Given the description of an element on the screen output the (x, y) to click on. 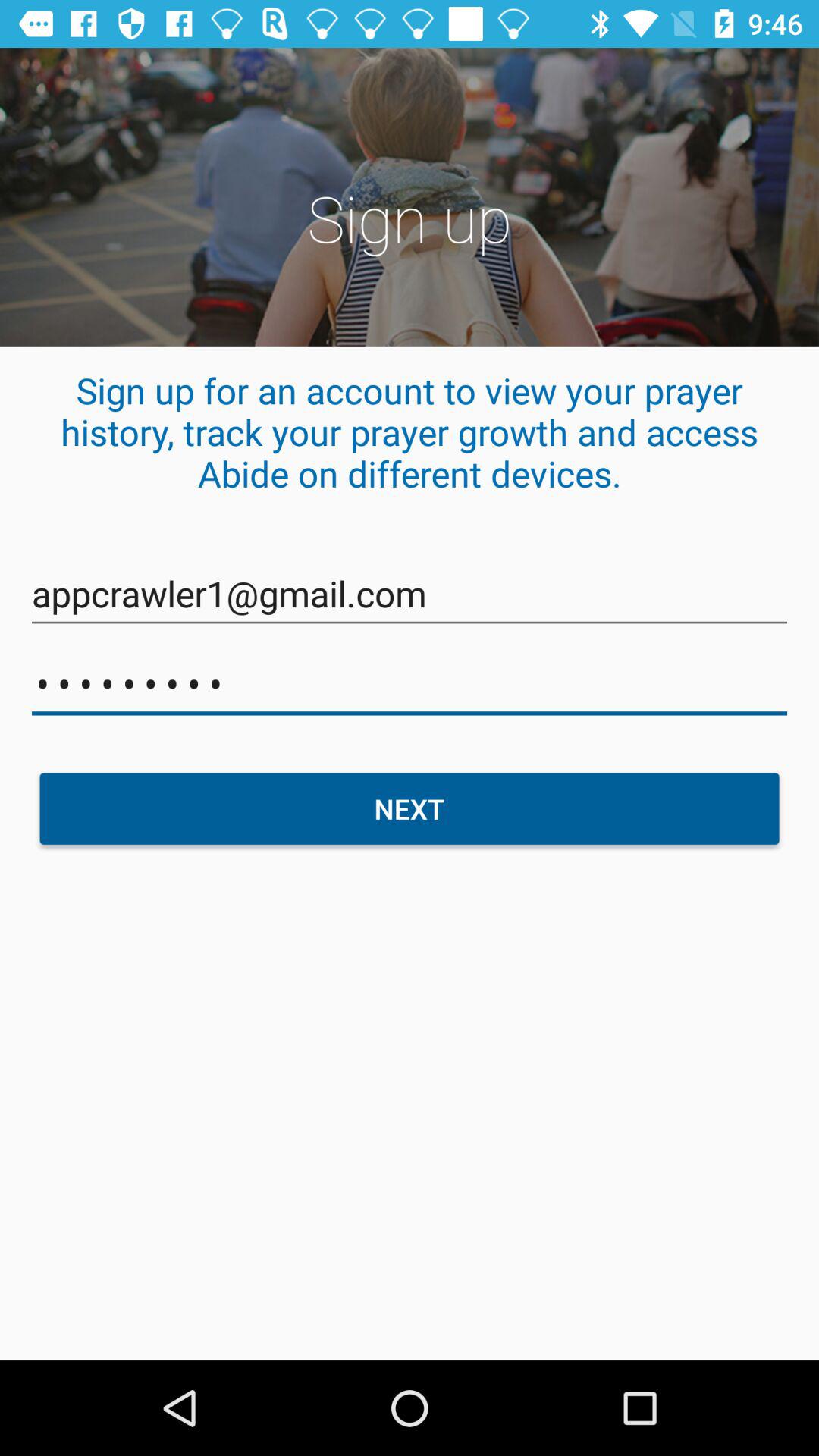
open icon above crowd3116 icon (409, 594)
